Given the description of an element on the screen output the (x, y) to click on. 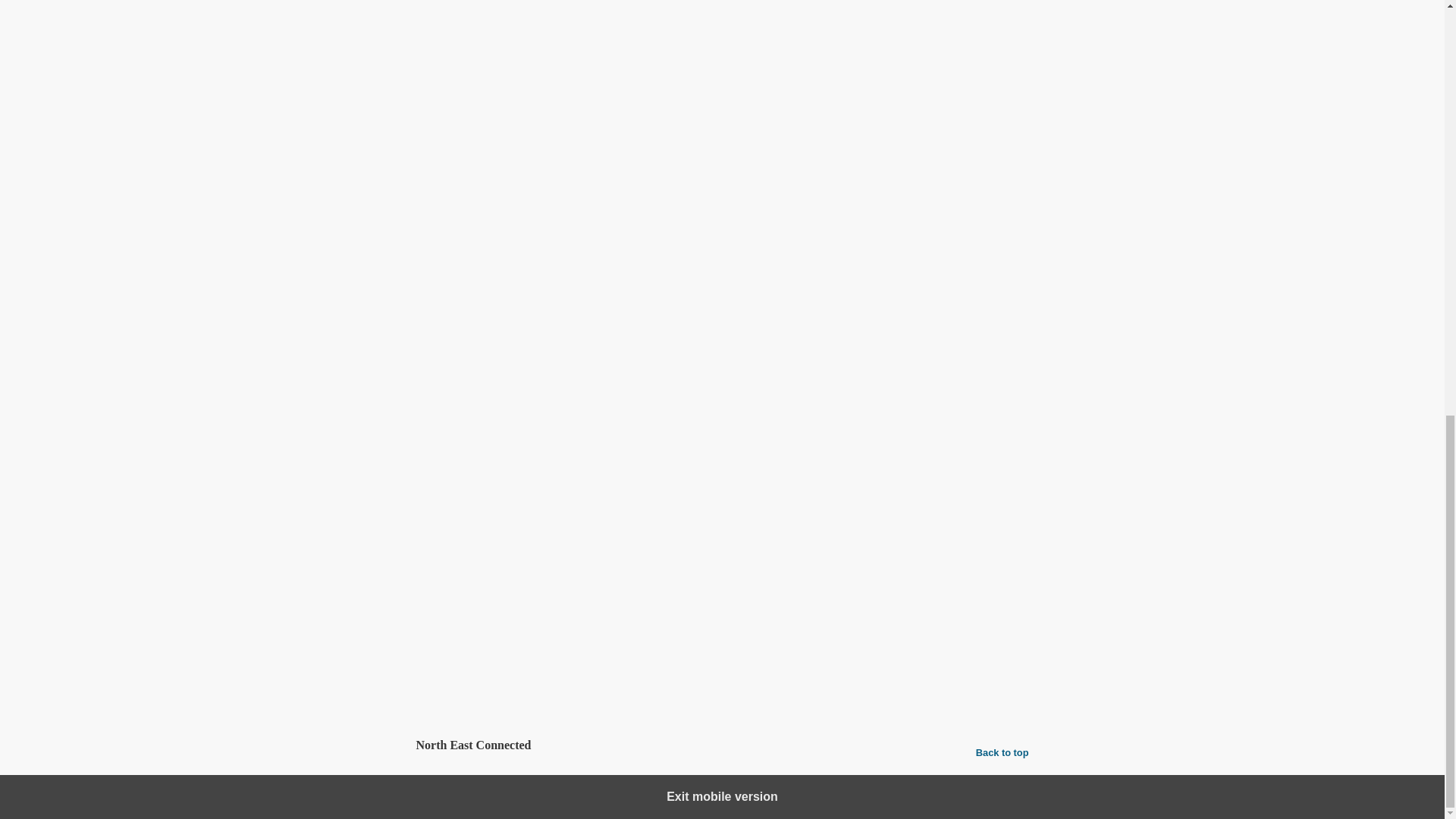
will.i.am (506, 694)
Motoring (493, 662)
Retail (533, 662)
The Flip (463, 694)
Back to top (1002, 752)
WILL.I.AMG (560, 694)
